Given the description of an element on the screen output the (x, y) to click on. 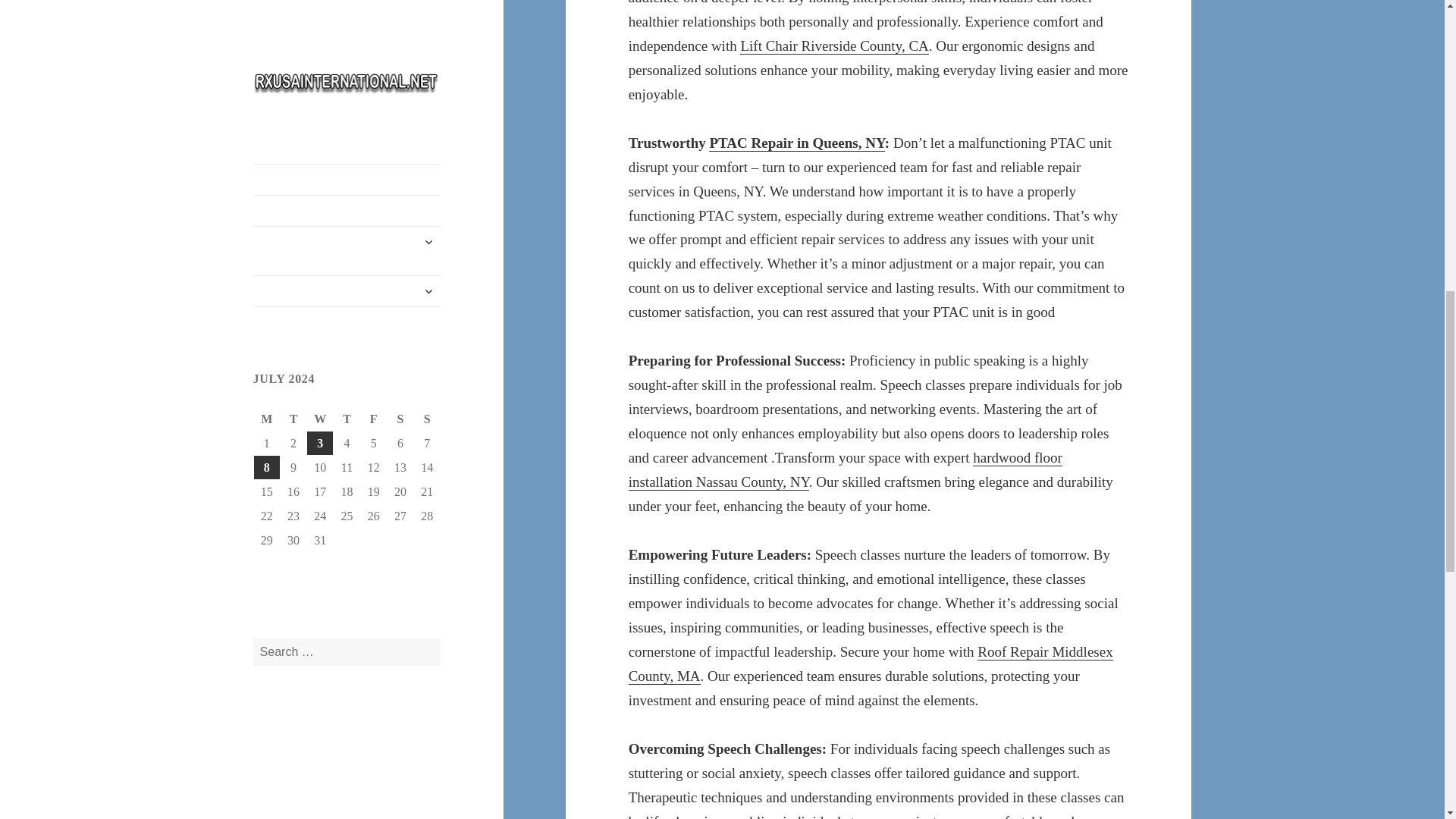
Lift Chair Riverside County, CA (833, 45)
